Given the description of an element on the screen output the (x, y) to click on. 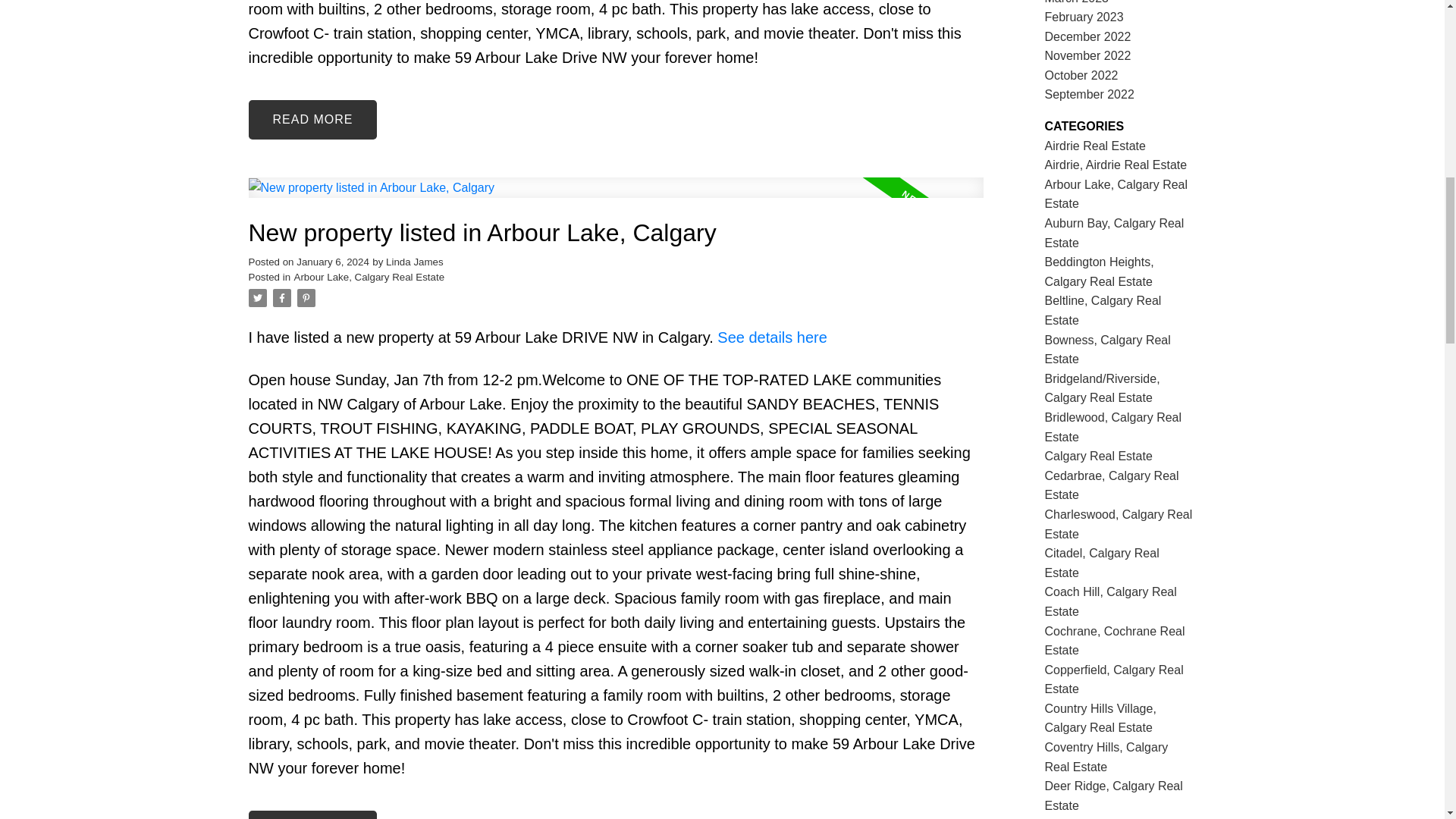
Read full post (616, 196)
READ (312, 119)
See details here (772, 337)
Arbour Lake, Calgary Real Estate (369, 276)
READ (312, 814)
New property listed in Arbour Lake, Calgary (616, 233)
